Given the description of an element on the screen output the (x, y) to click on. 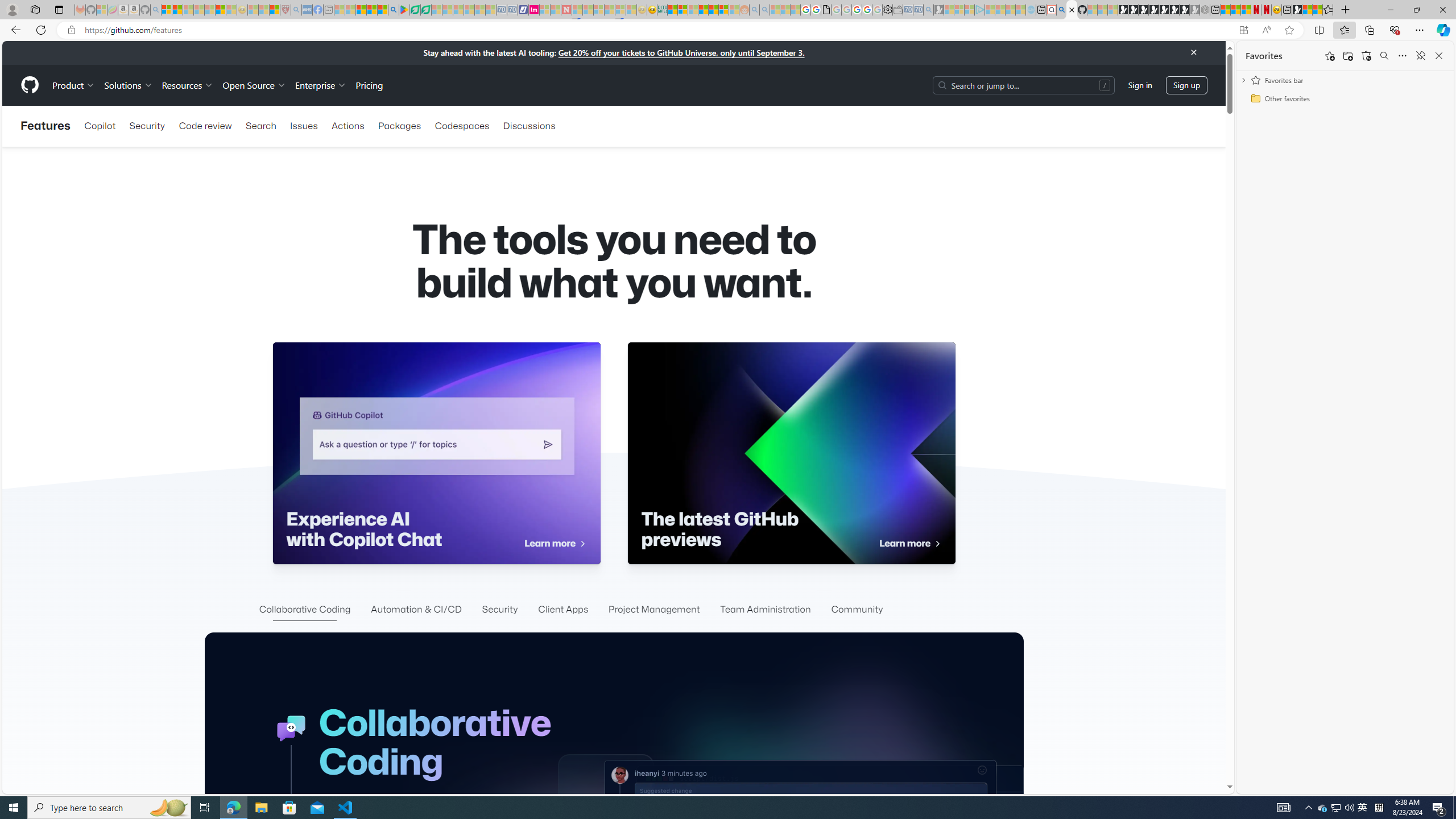
App available. Install GitHub (1243, 29)
Packages (398, 125)
Copilot (100, 125)
Community (857, 609)
